Given the description of an element on the screen output the (x, y) to click on. 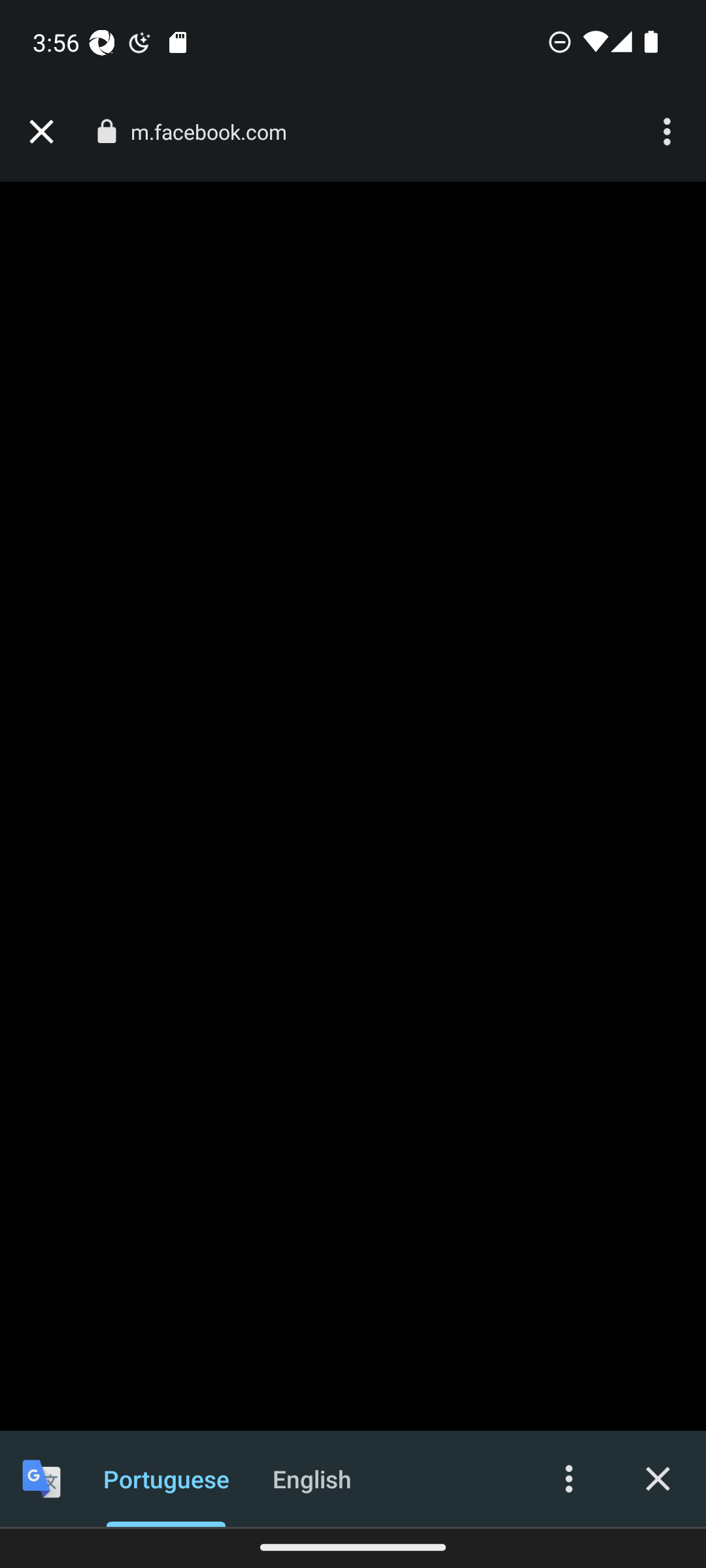
Close tab (41, 131)
More options (669, 131)
Connection is secure (106, 131)
m.facebook.com (215, 131)
English (312, 1478)
More options (568, 1478)
Close (657, 1478)
